Given the description of an element on the screen output the (x, y) to click on. 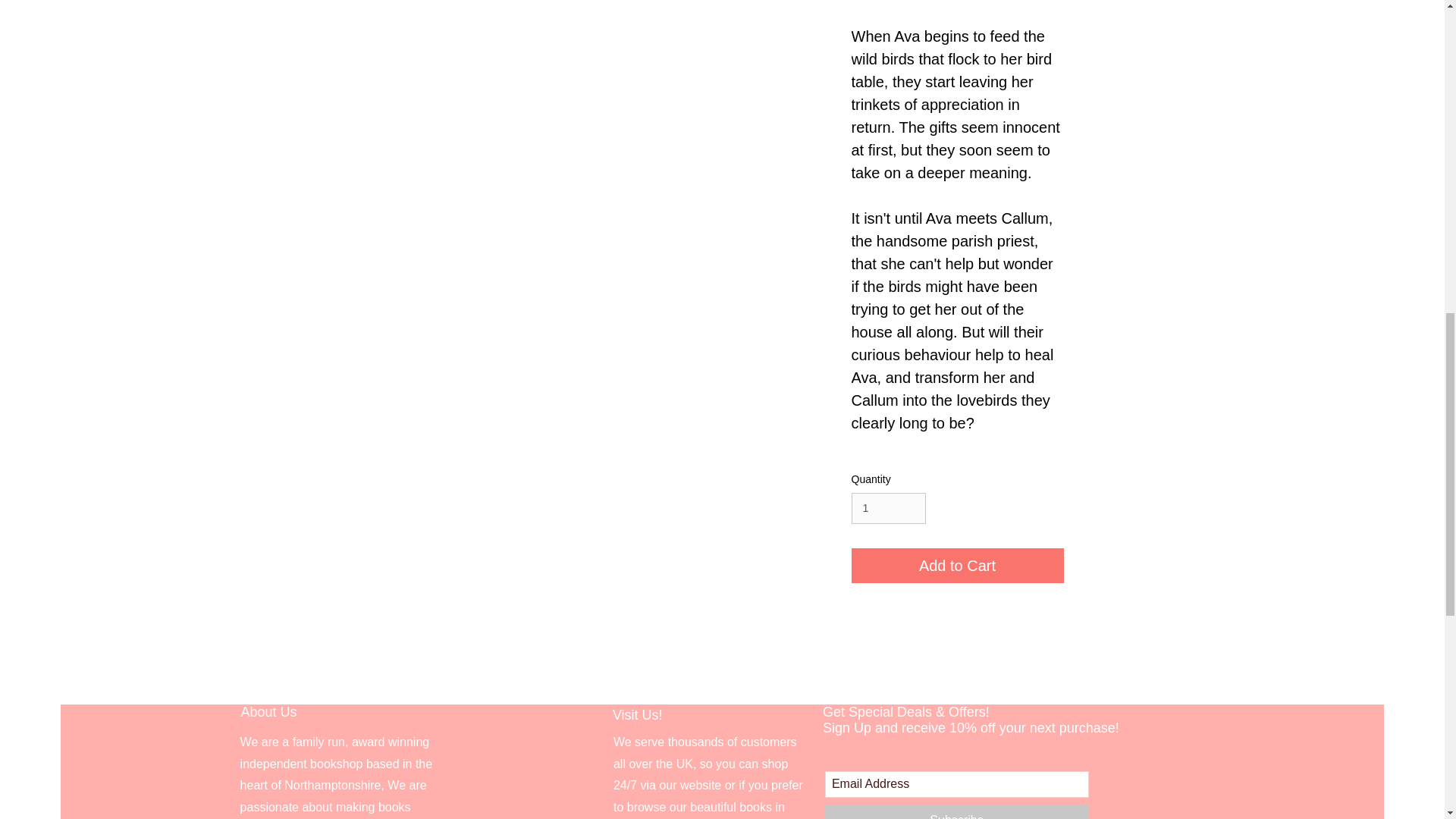
Add to Cart (956, 565)
1 (887, 508)
About Us (269, 711)
Subscribe (957, 812)
